Given the description of an element on the screen output the (x, y) to click on. 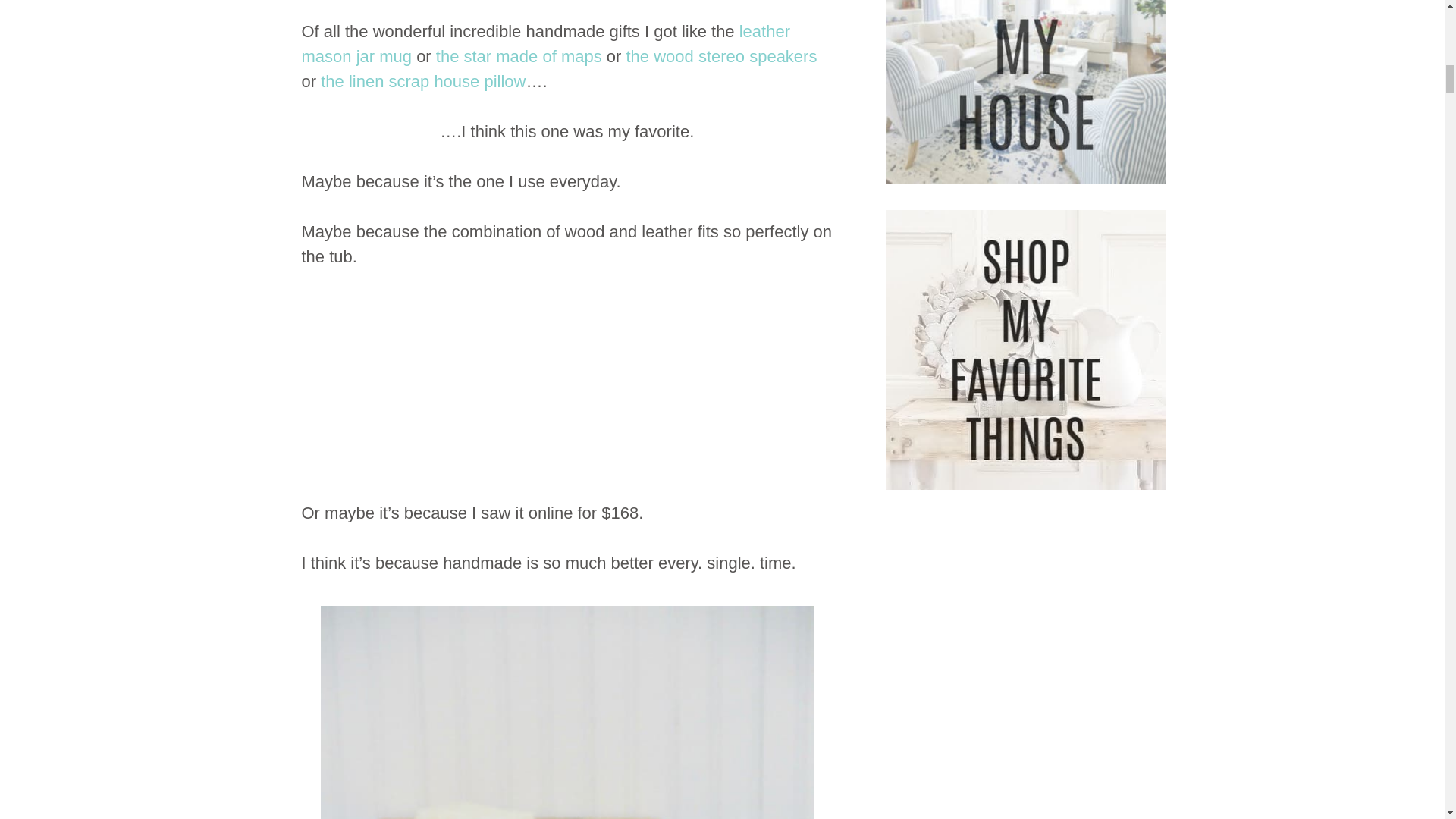
the linen scrap house pillow (422, 81)
leather mason jar mug (545, 44)
the star made of maps (518, 56)
the wood stereo speakers (721, 56)
